Given the description of an element on the screen output the (x, y) to click on. 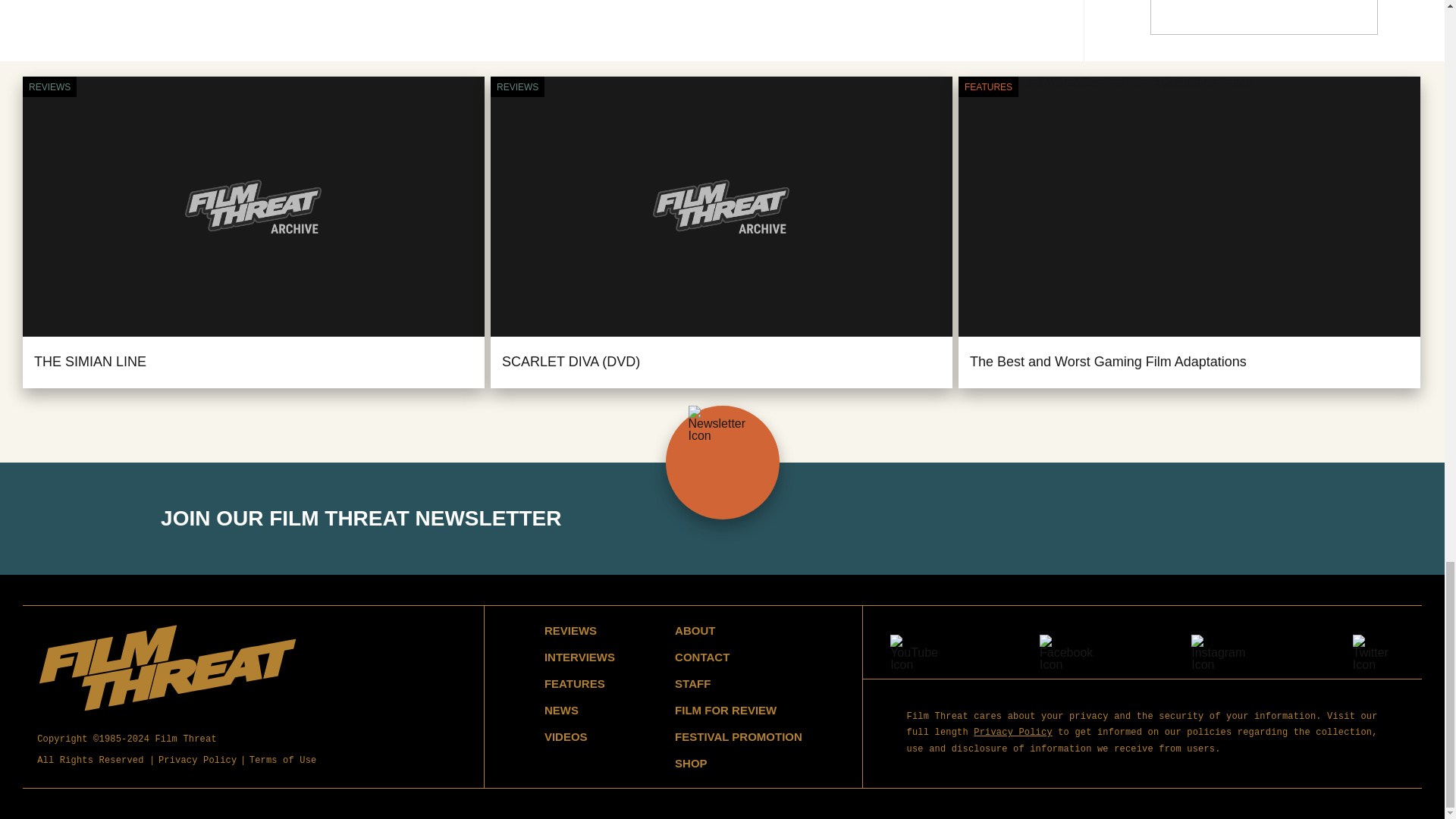
FEATURES (987, 86)
REVIEWS (49, 86)
The Best and Worst Gaming Film Adaptations (1107, 361)
Reviews (517, 86)
Reviews (49, 86)
Features (987, 86)
THE SIMIAN LINE (90, 361)
REVIEWS (517, 86)
